Given the description of an element on the screen output the (x, y) to click on. 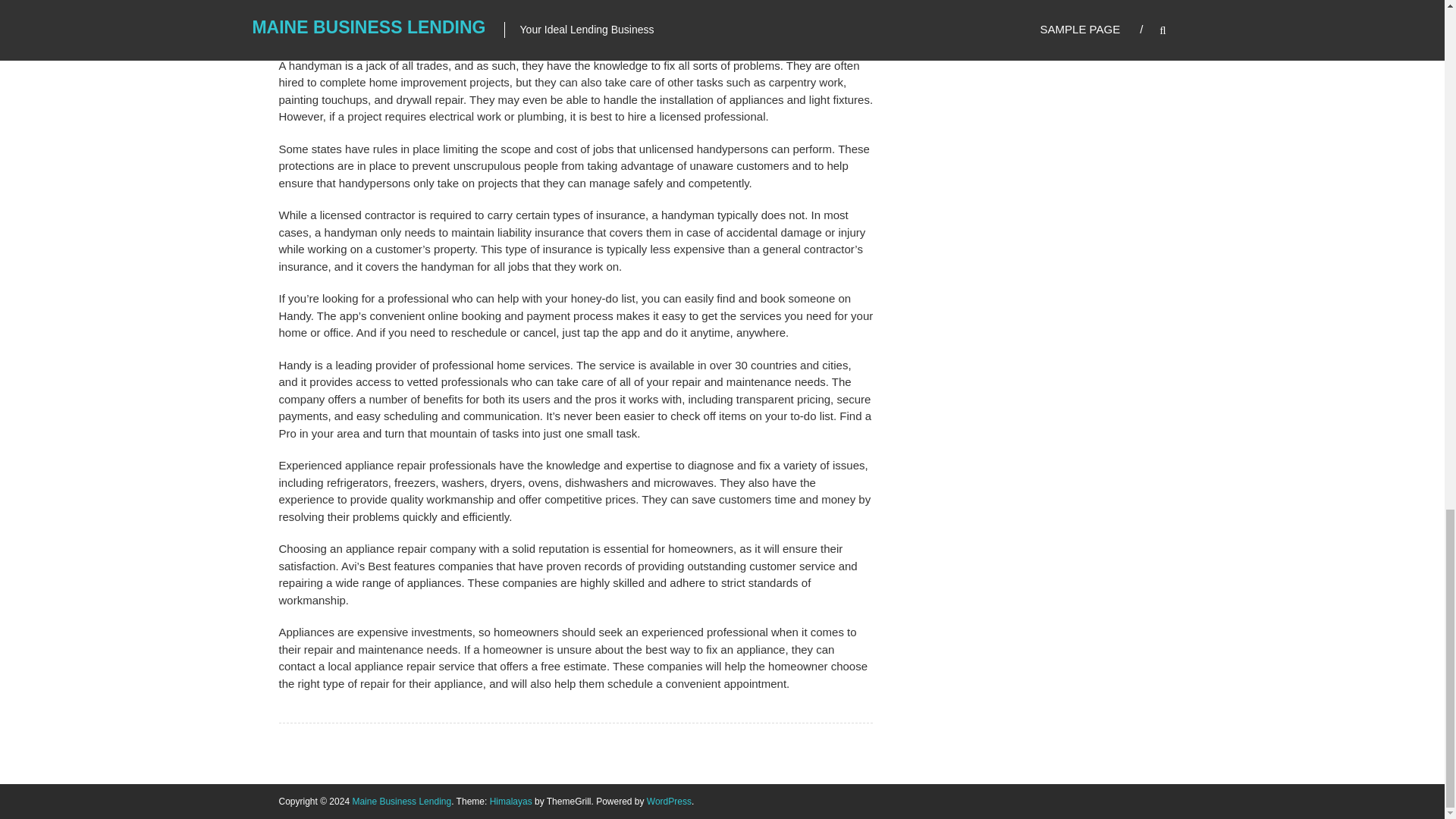
WordPress (668, 801)
Maine Business Lending (401, 801)
Maine Business Lending (401, 801)
Himalayas (510, 801)
Himalayas (510, 801)
WordPress (668, 801)
